Given the description of an element on the screen output the (x, y) to click on. 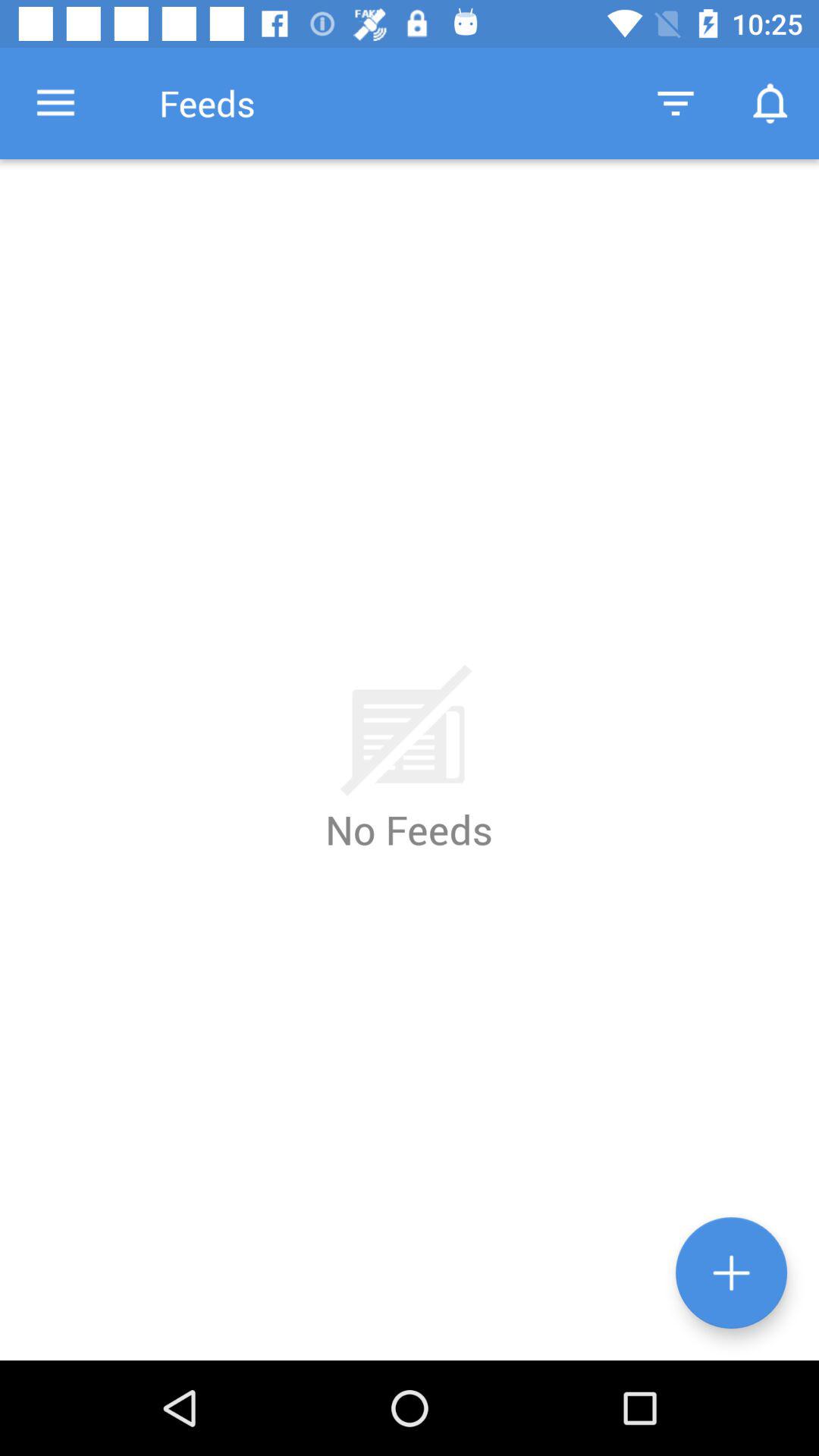
select item to the right of feeds icon (675, 103)
